Given the description of an element on the screen output the (x, y) to click on. 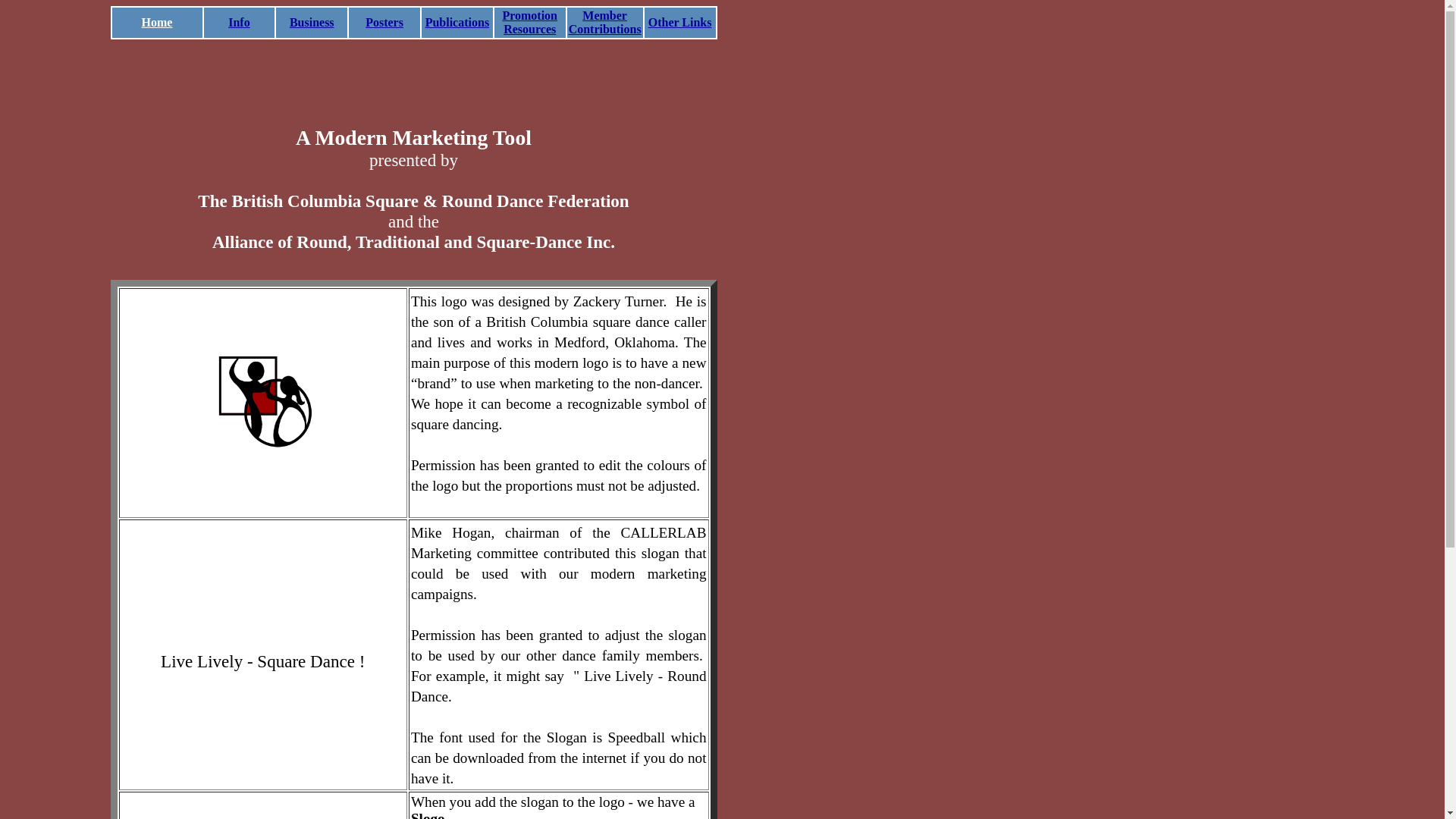
Promotion Resources Element type: text (529, 22)
Info Element type: text (238, 21)
Publications Element type: text (457, 21)
Posters Element type: text (384, 21)
Home Element type: text (156, 21)
Business Element type: text (311, 21)
Member Contributions Element type: text (604, 22)
Other Links Element type: text (680, 21)
